Given the description of an element on the screen output the (x, y) to click on. 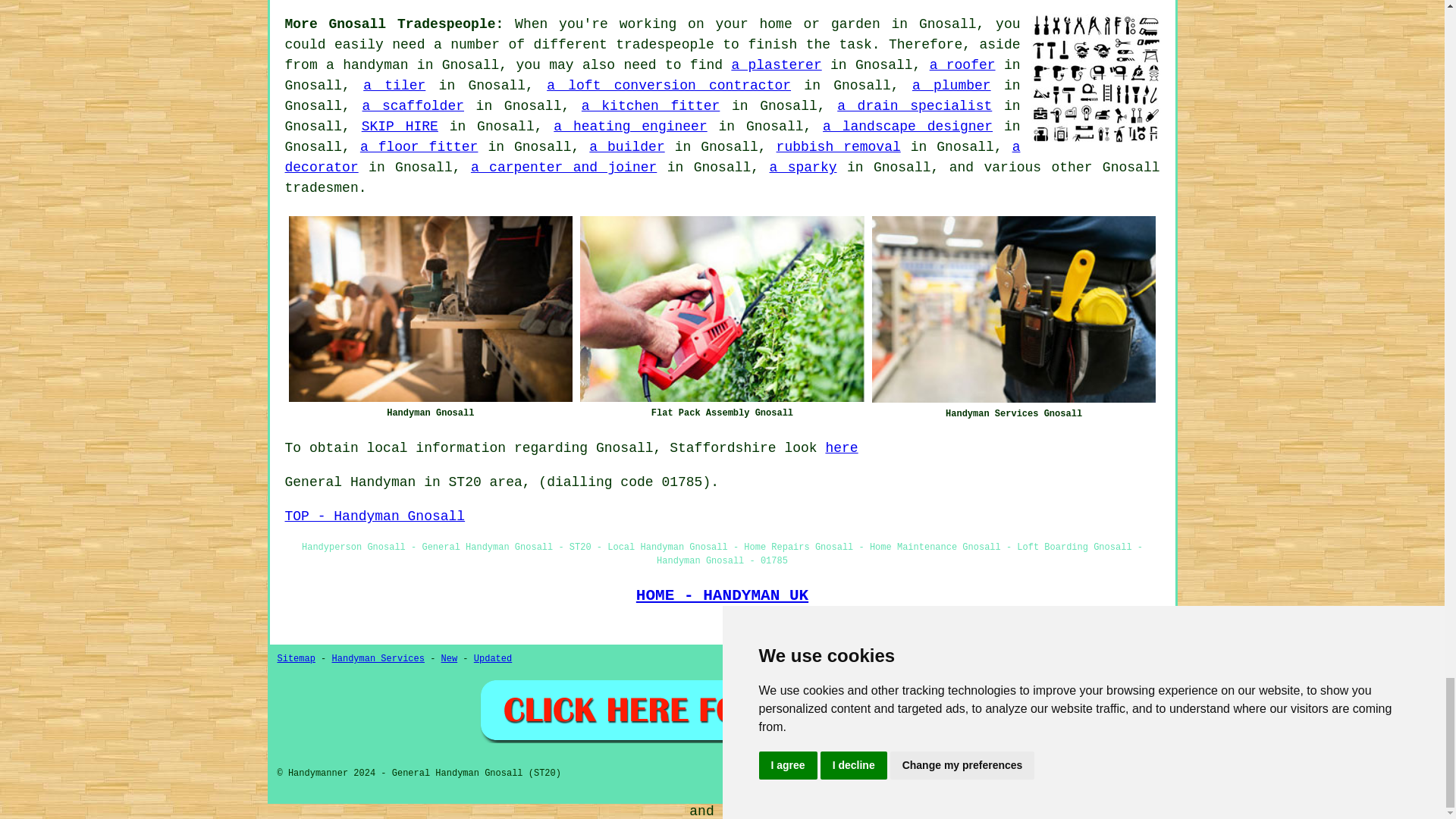
Flat Pack Assembly Gnosall (721, 309)
Handyman Gnosall (430, 309)
Handyman Services Gnosall (1014, 309)
More Gnosall Tradesmen (1095, 78)
